Given the description of an element on the screen output the (x, y) to click on. 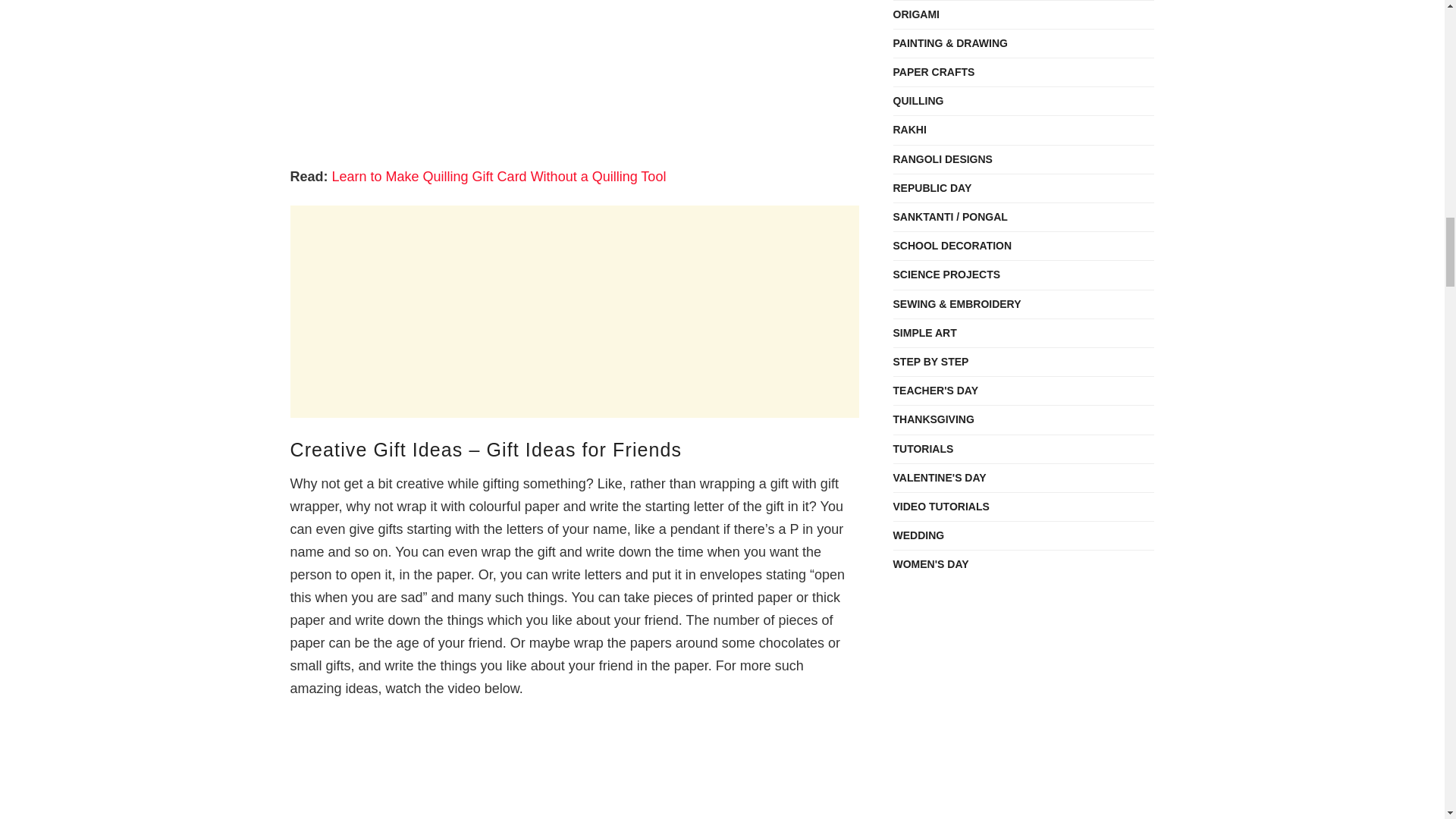
Learn to Make Quilling Gift Card Without a Quilling Tool (498, 176)
DIY memory jar (574, 74)
DIY- Easy Creative Gift Ideas (574, 768)
